Given the description of an element on the screen output the (x, y) to click on. 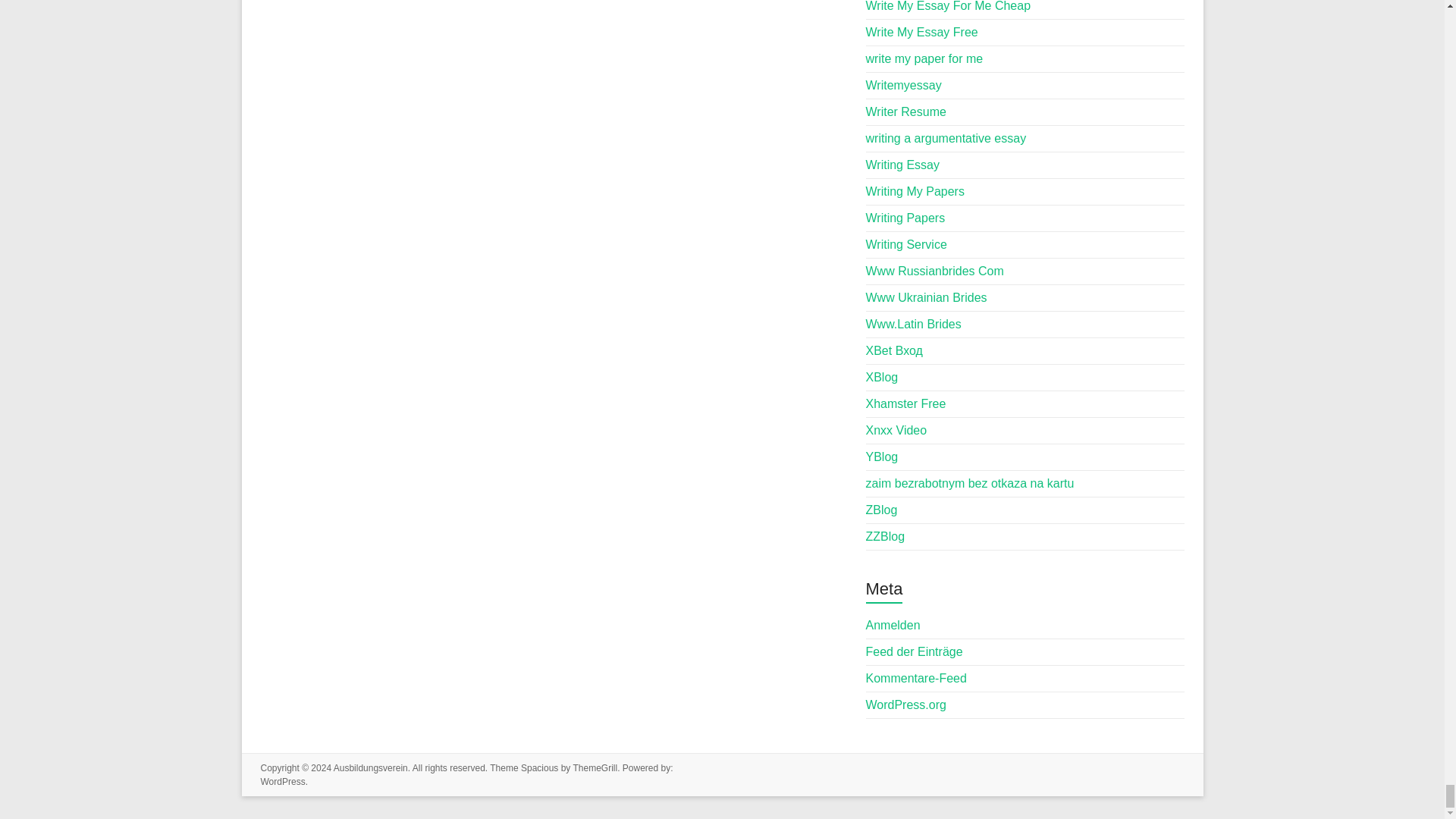
WordPress (282, 781)
Ausbildungsverein (370, 767)
Spacious (539, 767)
